Given the description of an element on the screen output the (x, y) to click on. 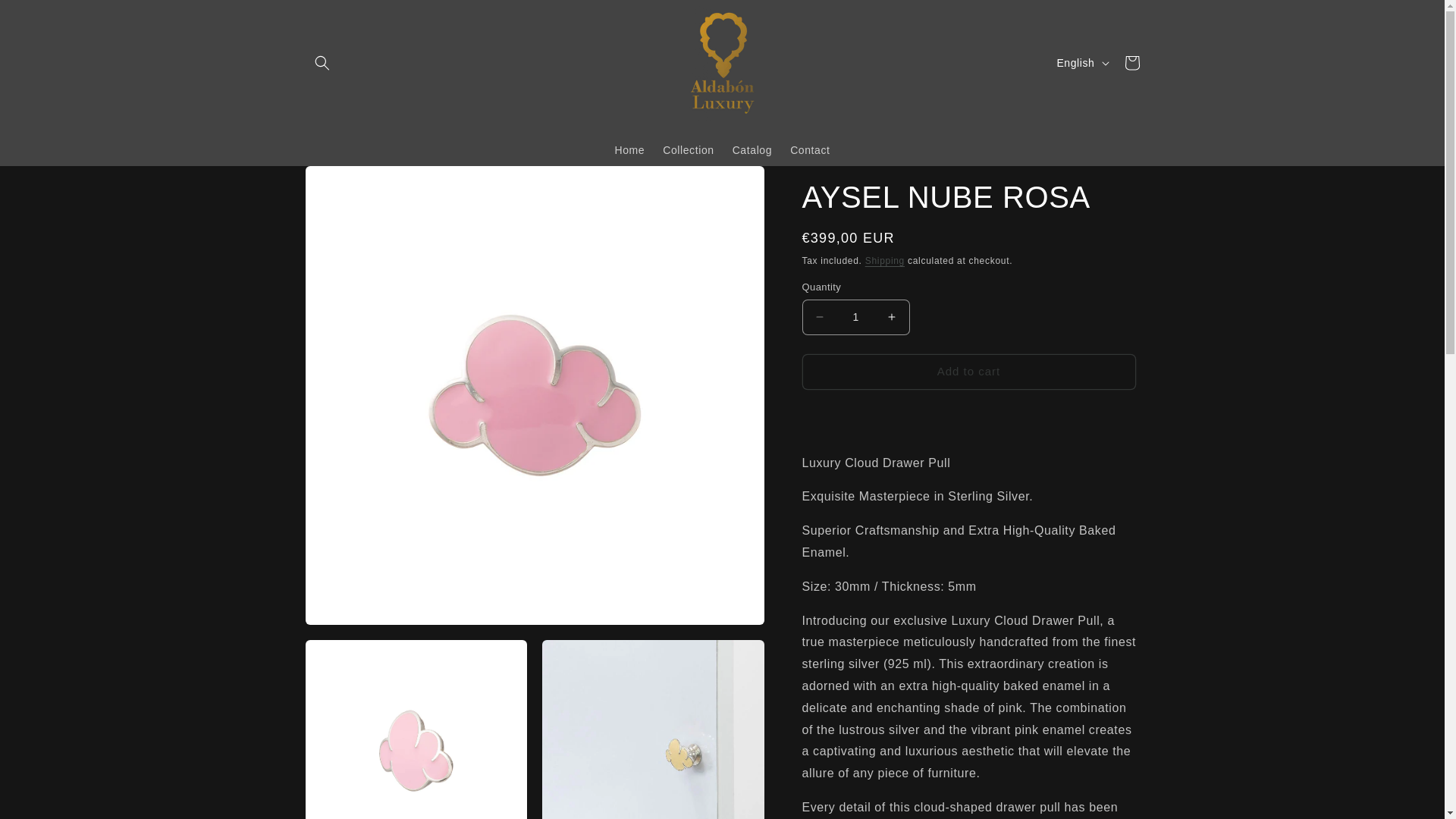
English (1080, 62)
1 (856, 316)
Decrease quantity for AYSEL NUBE ROSA (818, 316)
Increase quantity for AYSEL NUBE ROSA (891, 316)
Skip to content (45, 17)
Collection (687, 149)
Contact (809, 149)
Cart (1131, 62)
Home (629, 149)
Catalog (751, 149)
Skip to product information (350, 182)
Shipping (884, 260)
Add to cart (968, 371)
